Given the description of an element on the screen output the (x, y) to click on. 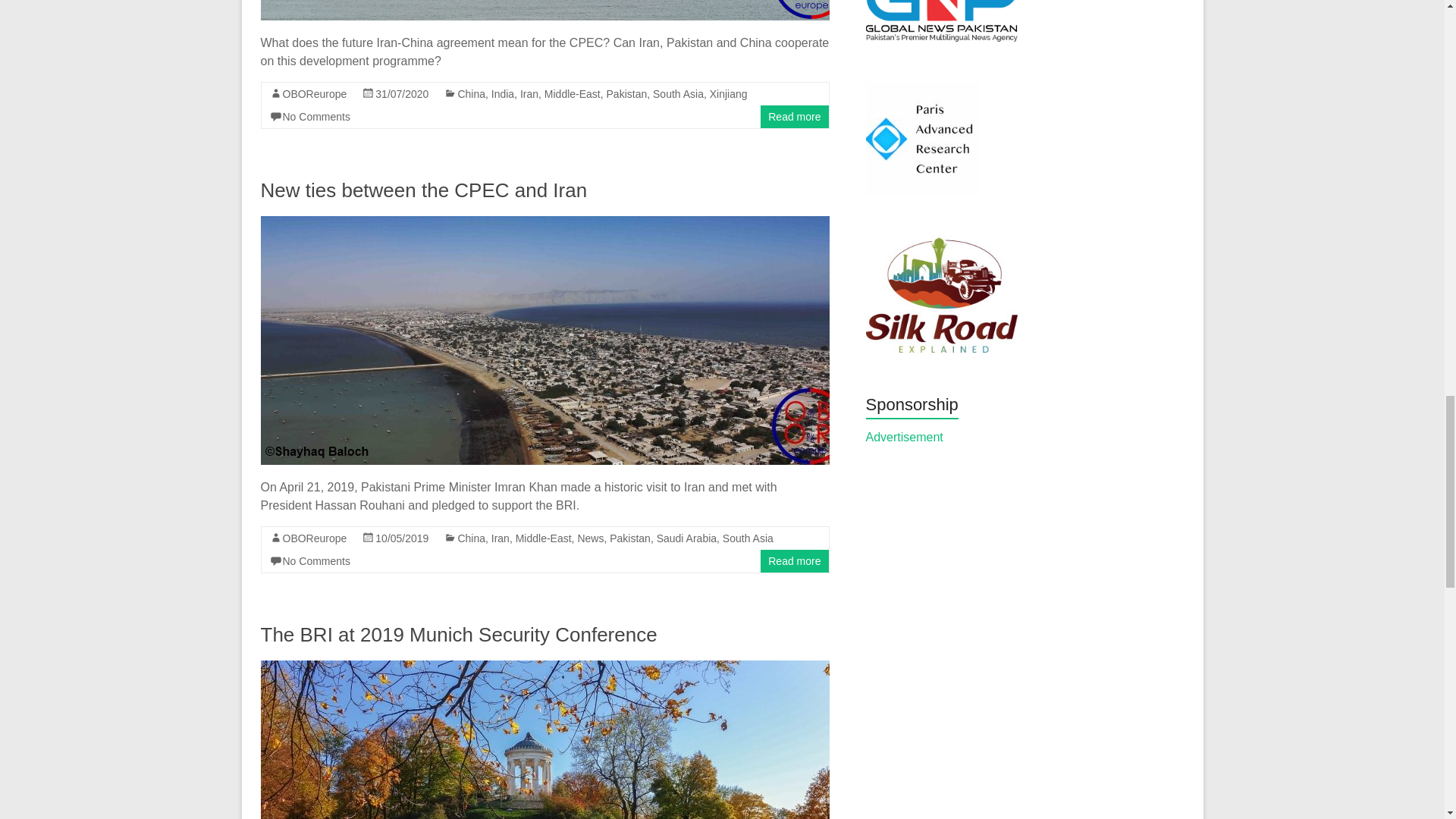
11:32 (401, 93)
New ties between the CPEC and Iran (544, 223)
New ties between the CPEC and Iran (424, 190)
Iran and the CPEC (544, 10)
